Given the description of an element on the screen output the (x, y) to click on. 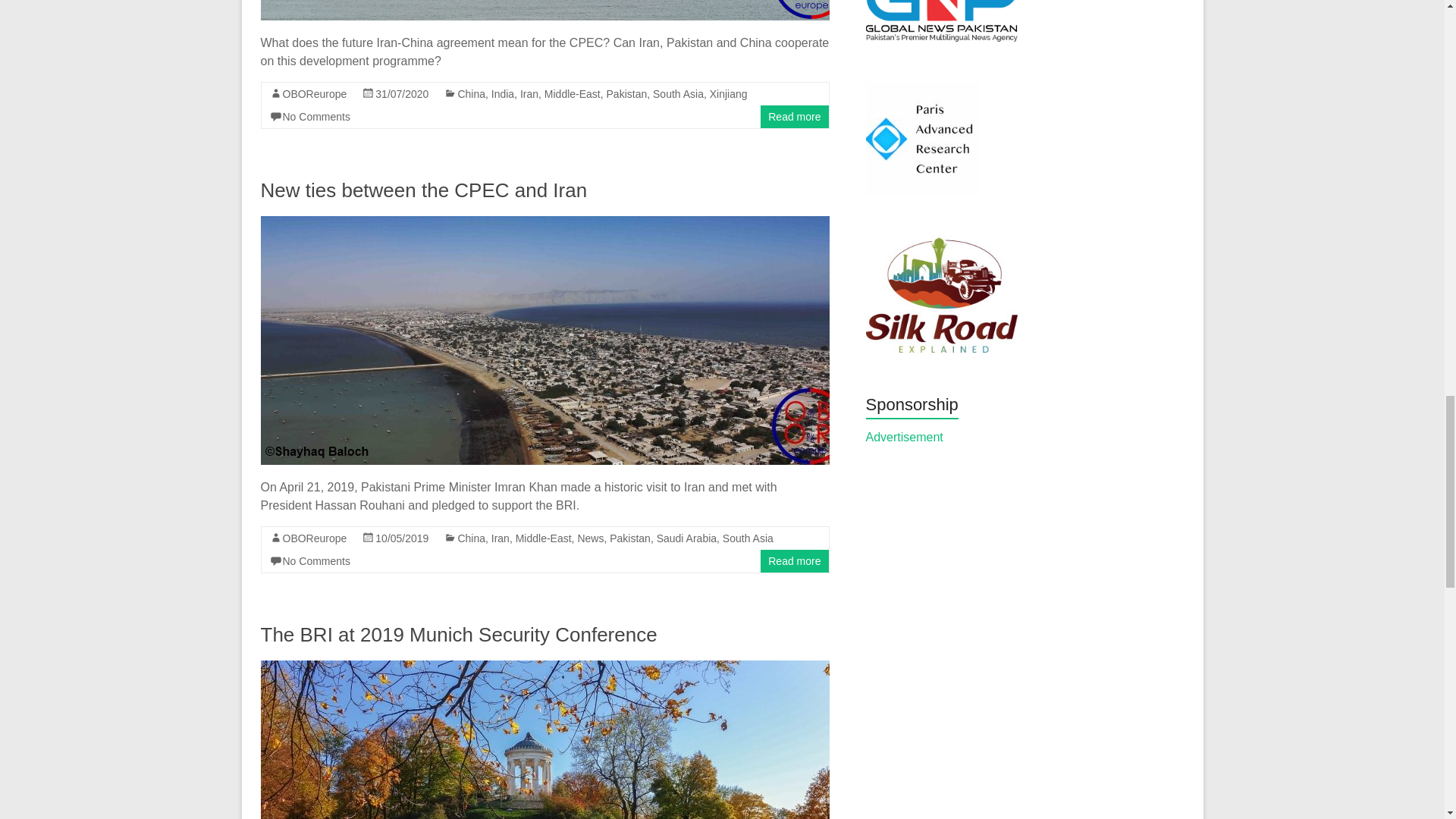
11:32 (401, 93)
New ties between the CPEC and Iran (544, 223)
New ties between the CPEC and Iran (424, 190)
Iran and the CPEC (544, 10)
